Given the description of an element on the screen output the (x, y) to click on. 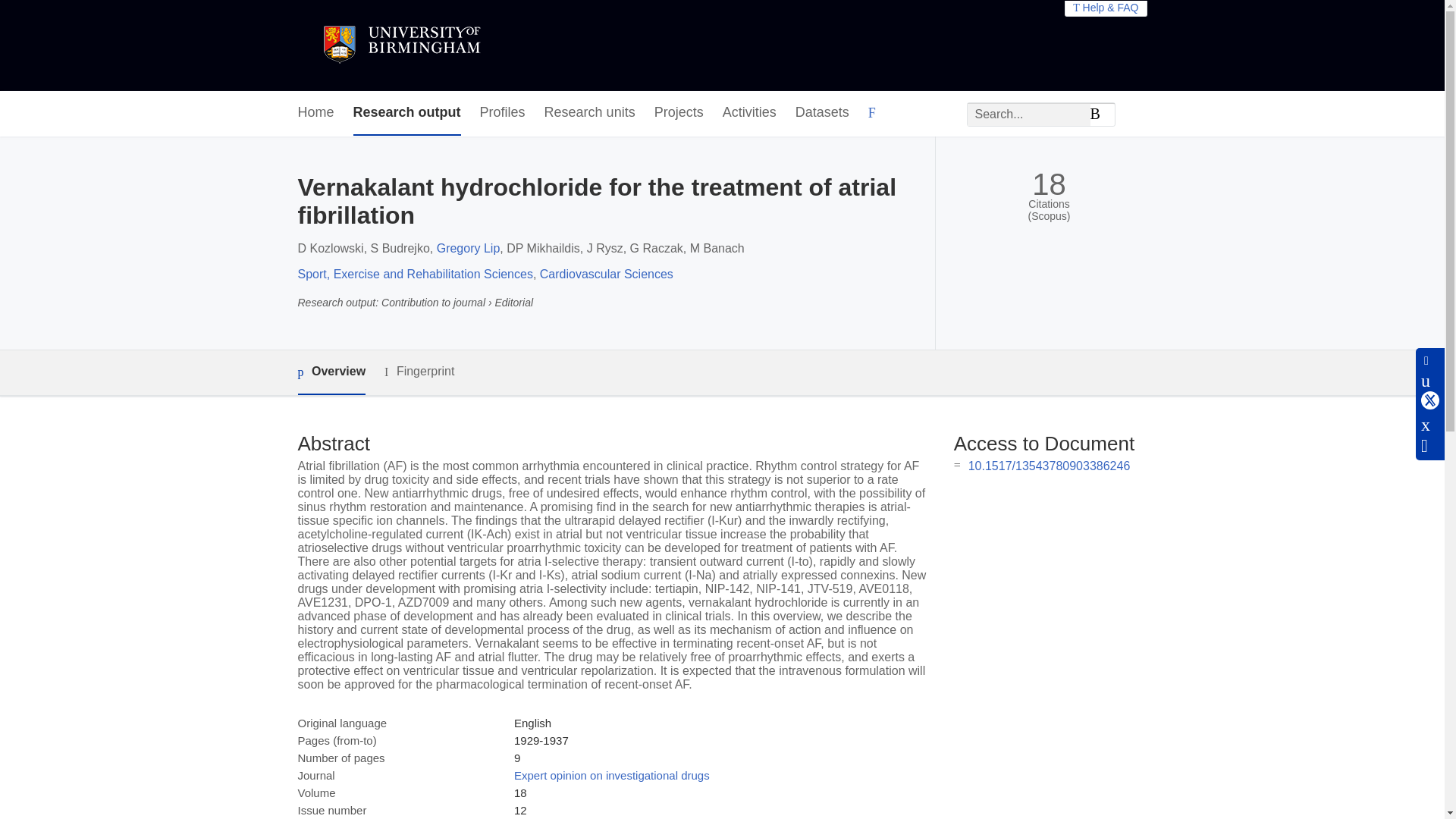
University of Birmingham Home (401, 45)
Cardiovascular Sciences (606, 273)
Overview (331, 372)
Research output (407, 112)
Expert opinion on investigational drugs (611, 775)
Fingerprint (419, 371)
Gregory Lip (468, 247)
Projects (678, 112)
Profiles (502, 112)
